Given the description of an element on the screen output the (x, y) to click on. 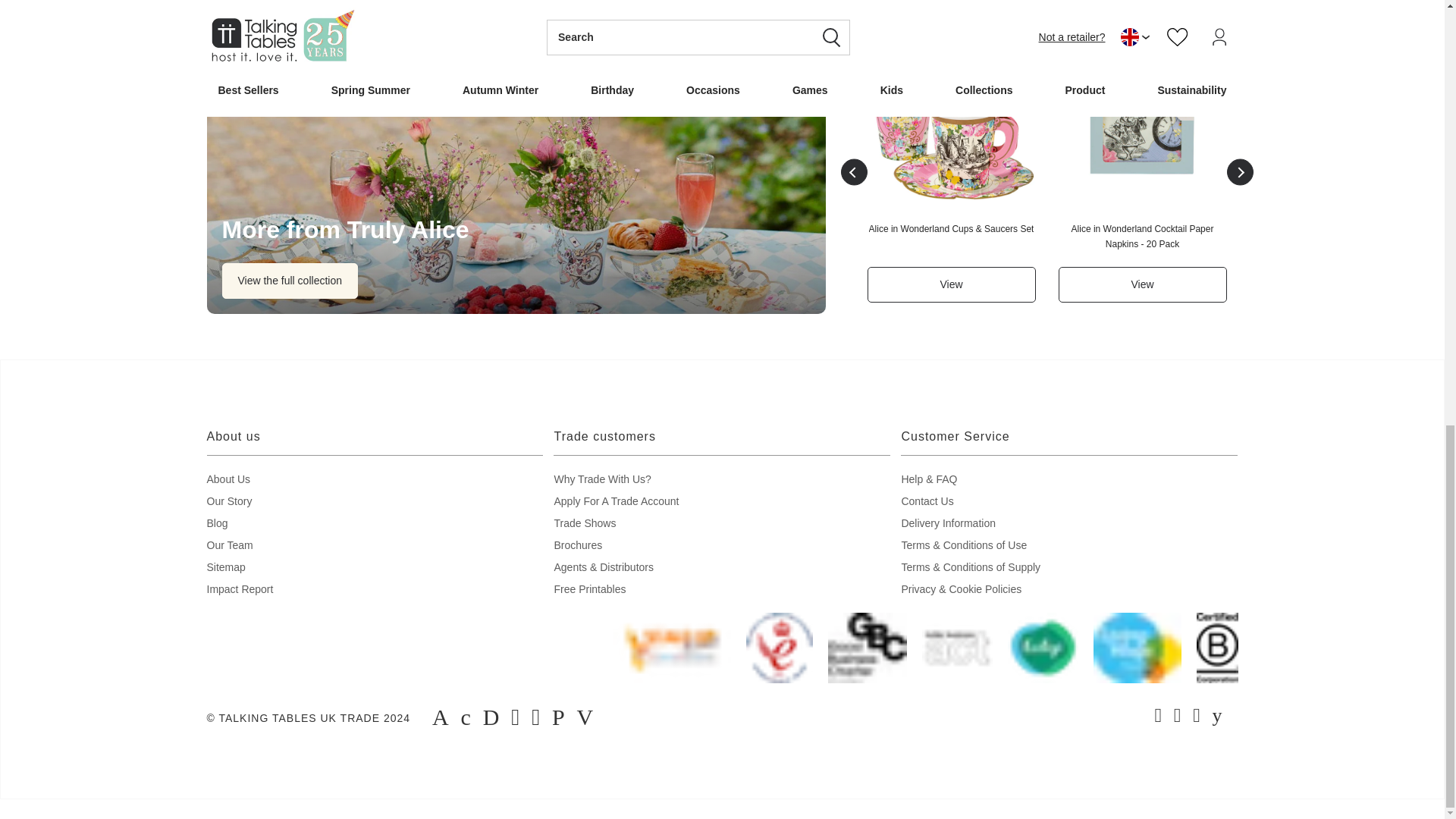
Talking Tables UK Trade on Pinterest (1196, 717)
Talking Tables UK Trade on Youtube (1217, 717)
Talking Tables UK Trade on Instagram (1177, 717)
Talking Tables UK Trade on Facebook (1157, 717)
